Given the description of an element on the screen output the (x, y) to click on. 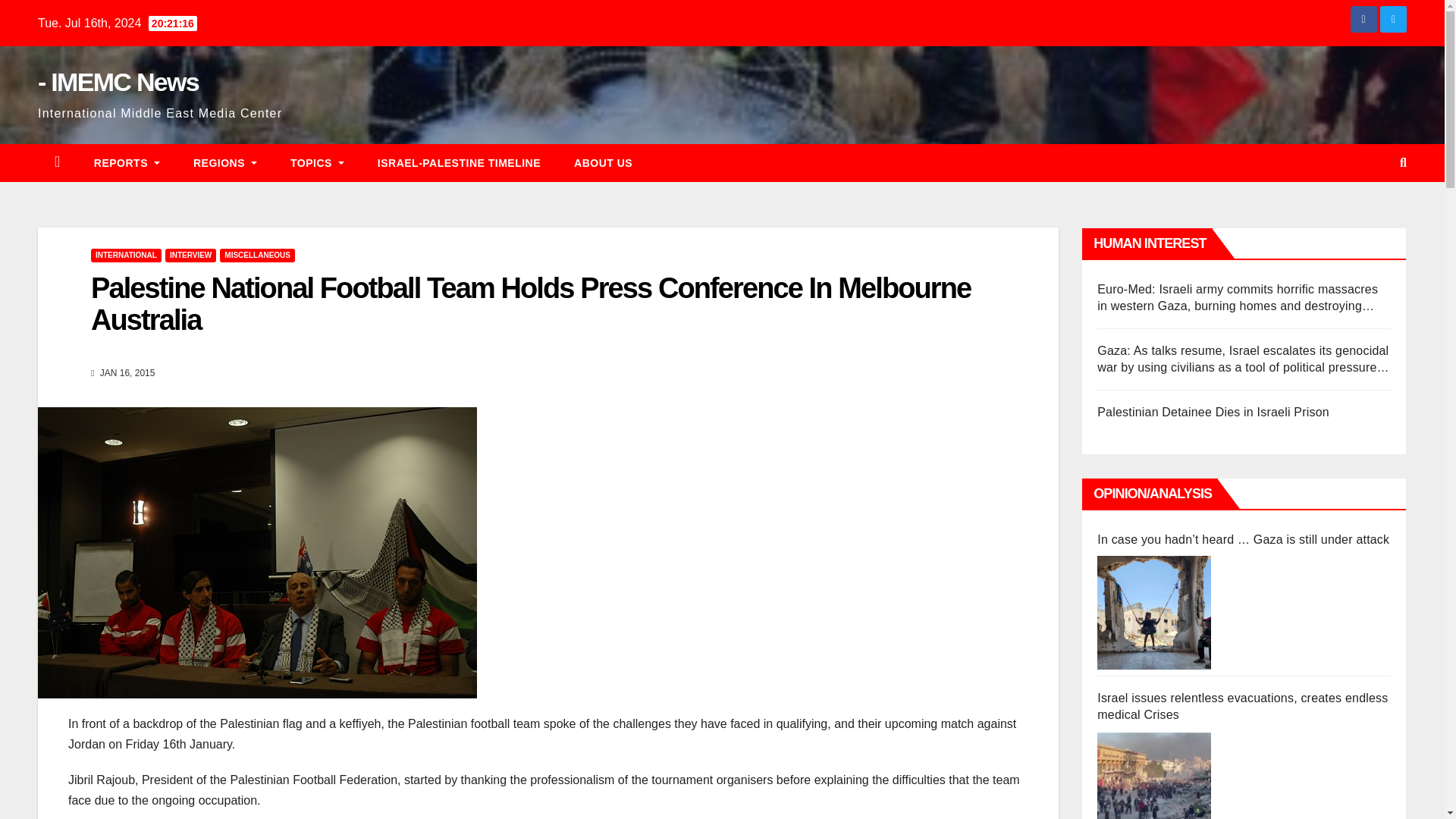
REPORTS (126, 162)
REGIONS (224, 162)
TOPICS (317, 162)
Regions (224, 162)
Reports (126, 162)
- IMEMC News (117, 81)
